Given the description of an element on the screen output the (x, y) to click on. 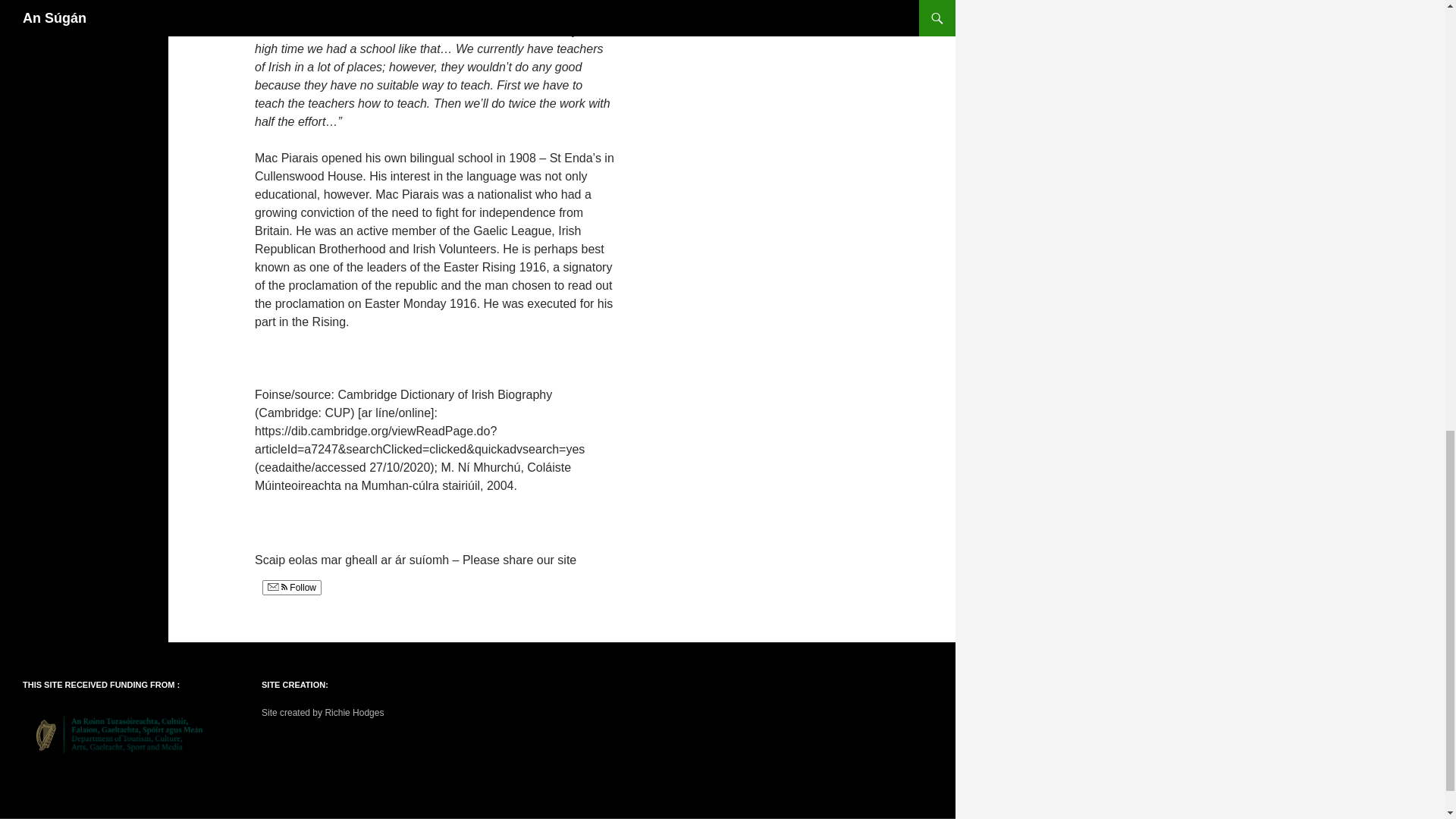
Follow (291, 587)
Email, RSS (276, 587)
